Given the description of an element on the screen output the (x, y) to click on. 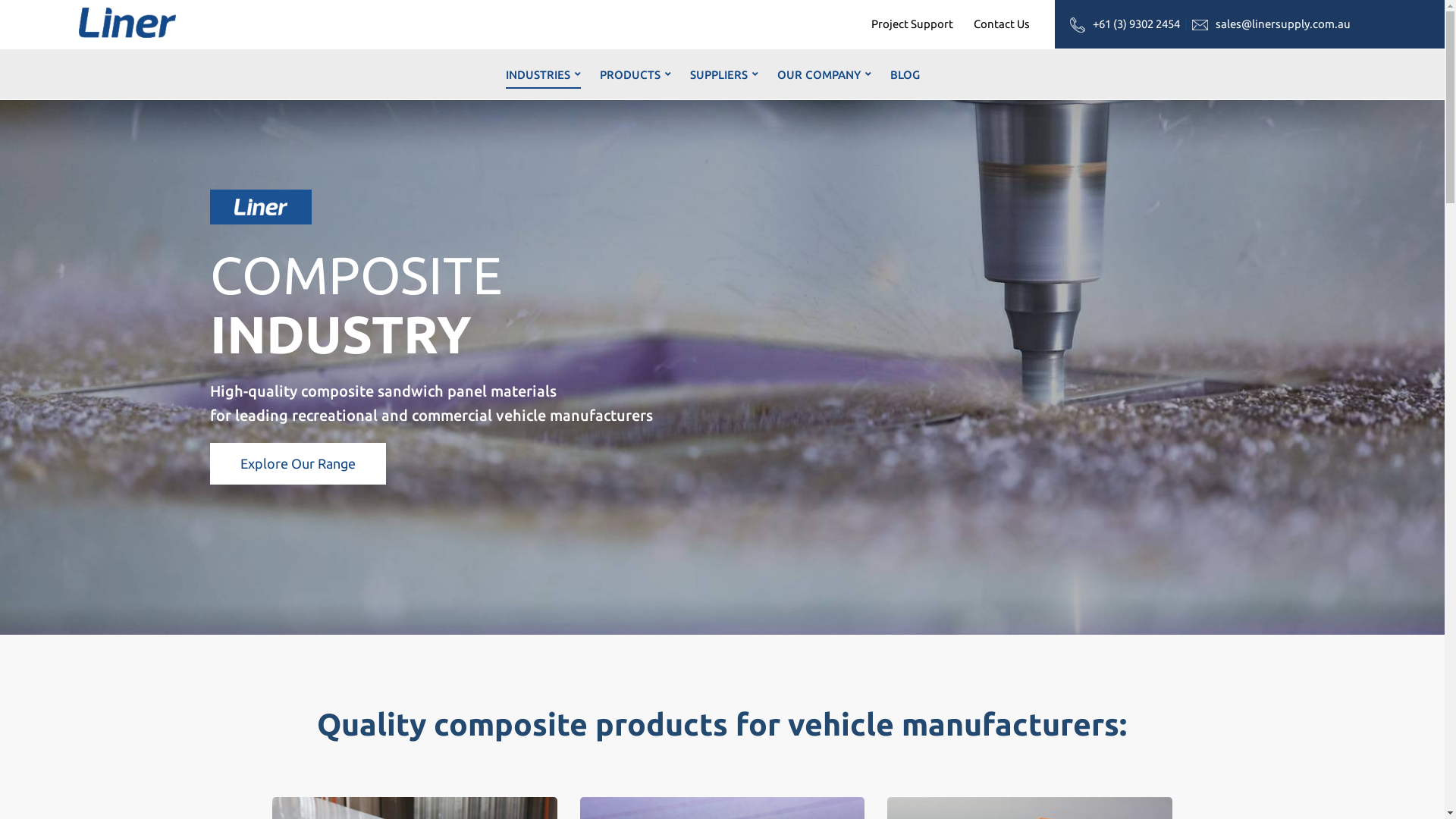
SUPPLIERS Element type: text (724, 74)
sales@linersupply.com.au Element type: text (1282, 23)
Project Support Element type: text (912, 23)
OUR COMPANY Element type: text (824, 74)
PRODUCTS Element type: text (635, 74)
Explore Our Range Element type: text (297, 463)
BLOG Element type: text (904, 74)
Layer 30 copy@1X Element type: hover (260, 206)
INDUSTRIES Element type: text (542, 74)
Contact Us Element type: text (1001, 23)
